Given the description of an element on the screen output the (x, y) to click on. 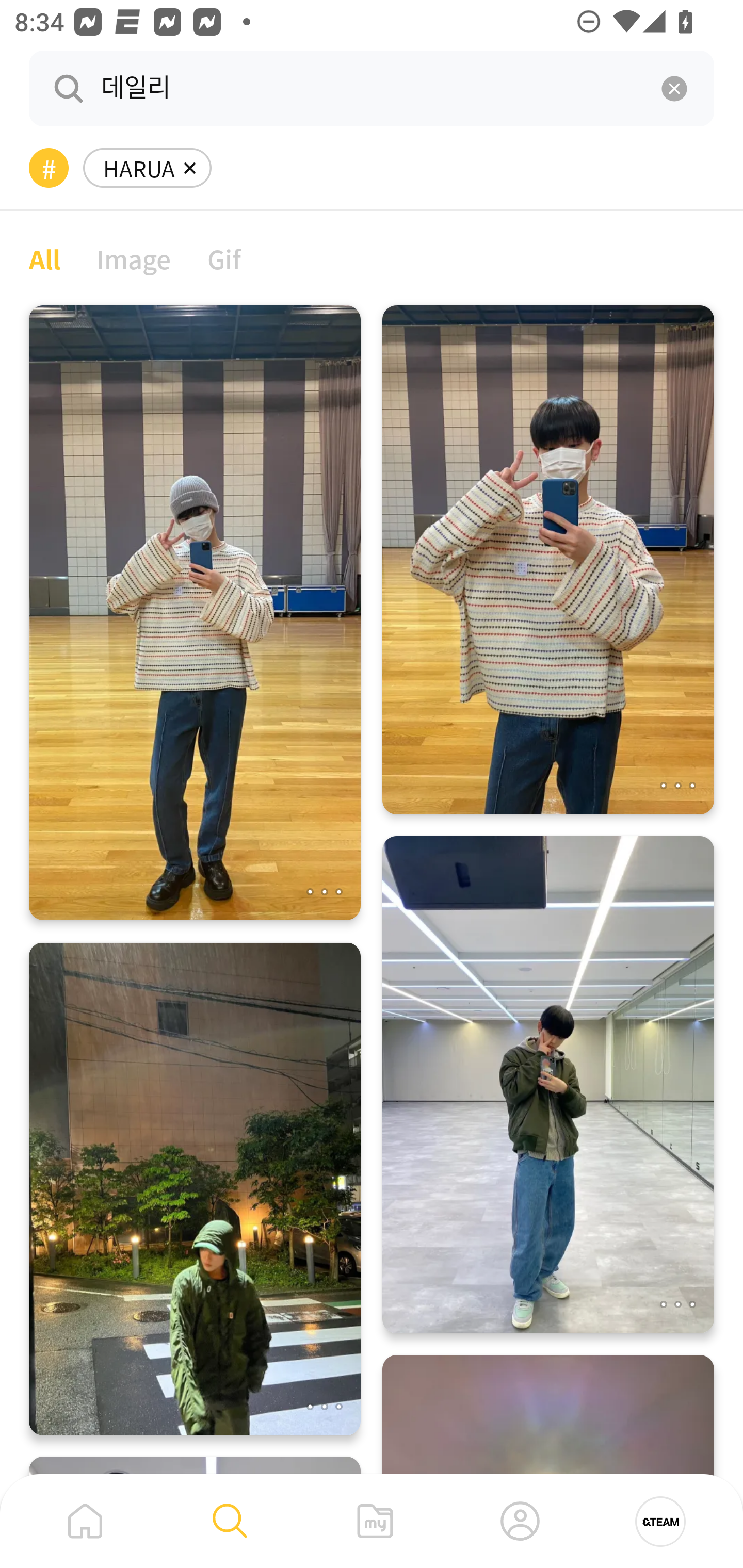
All (44, 257)
Image (133, 257)
Gif (223, 257)
